Given the description of an element on the screen output the (x, y) to click on. 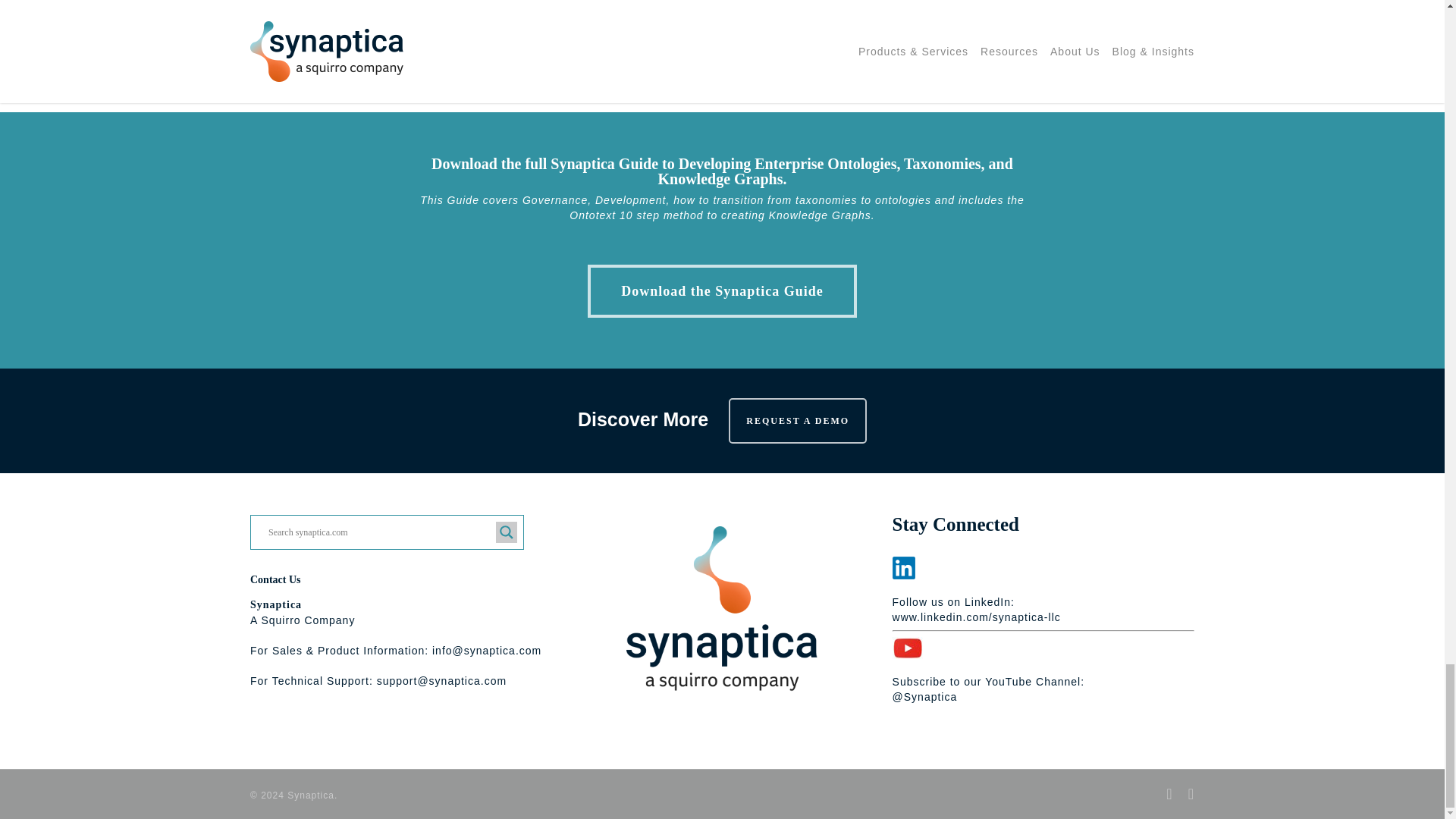
Download the Synaptica Guide (722, 290)
REQUEST A DEMO (797, 420)
